Given the description of an element on the screen output the (x, y) to click on. 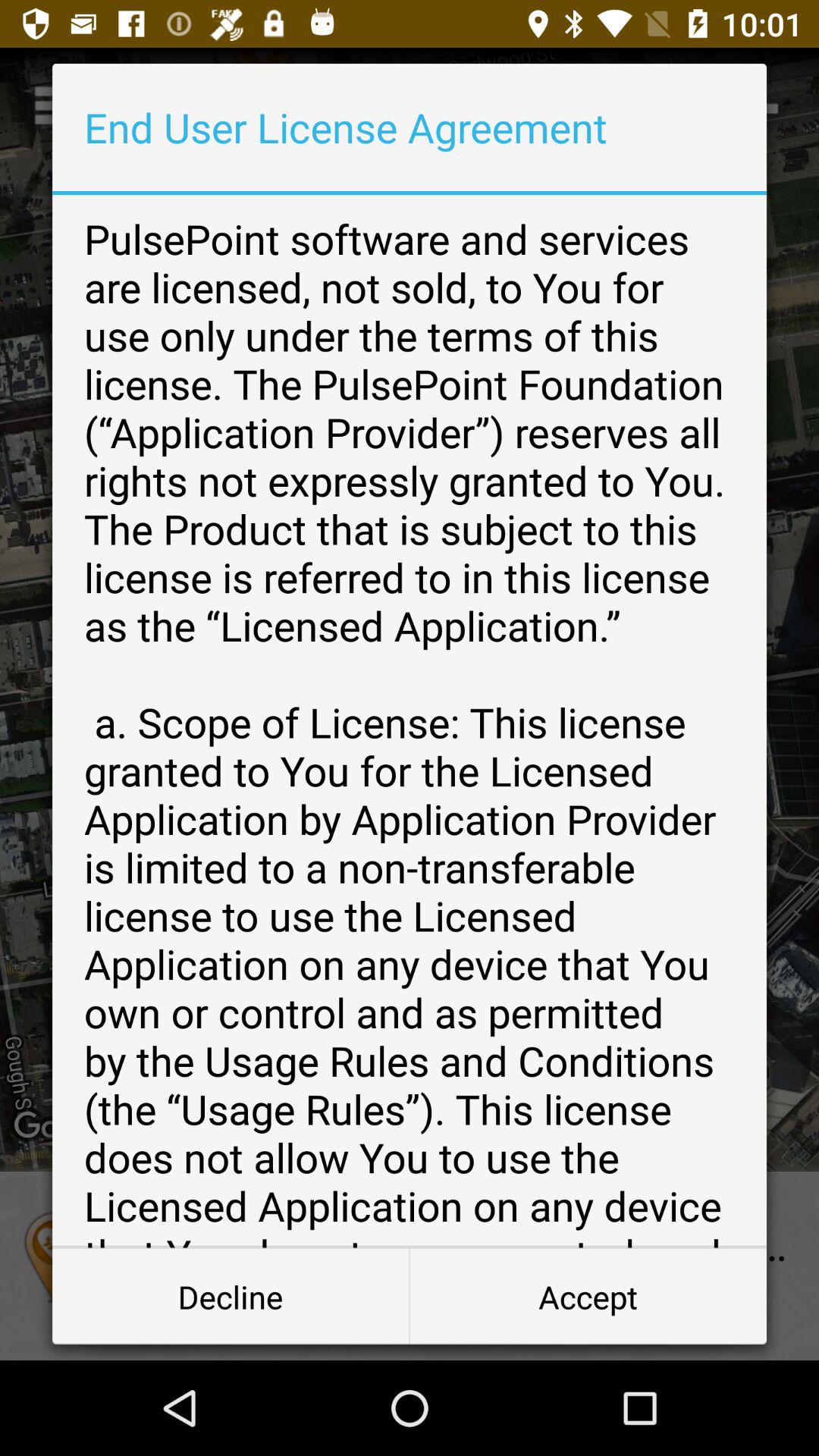
launch icon next to decline item (588, 1296)
